Given the description of an element on the screen output the (x, y) to click on. 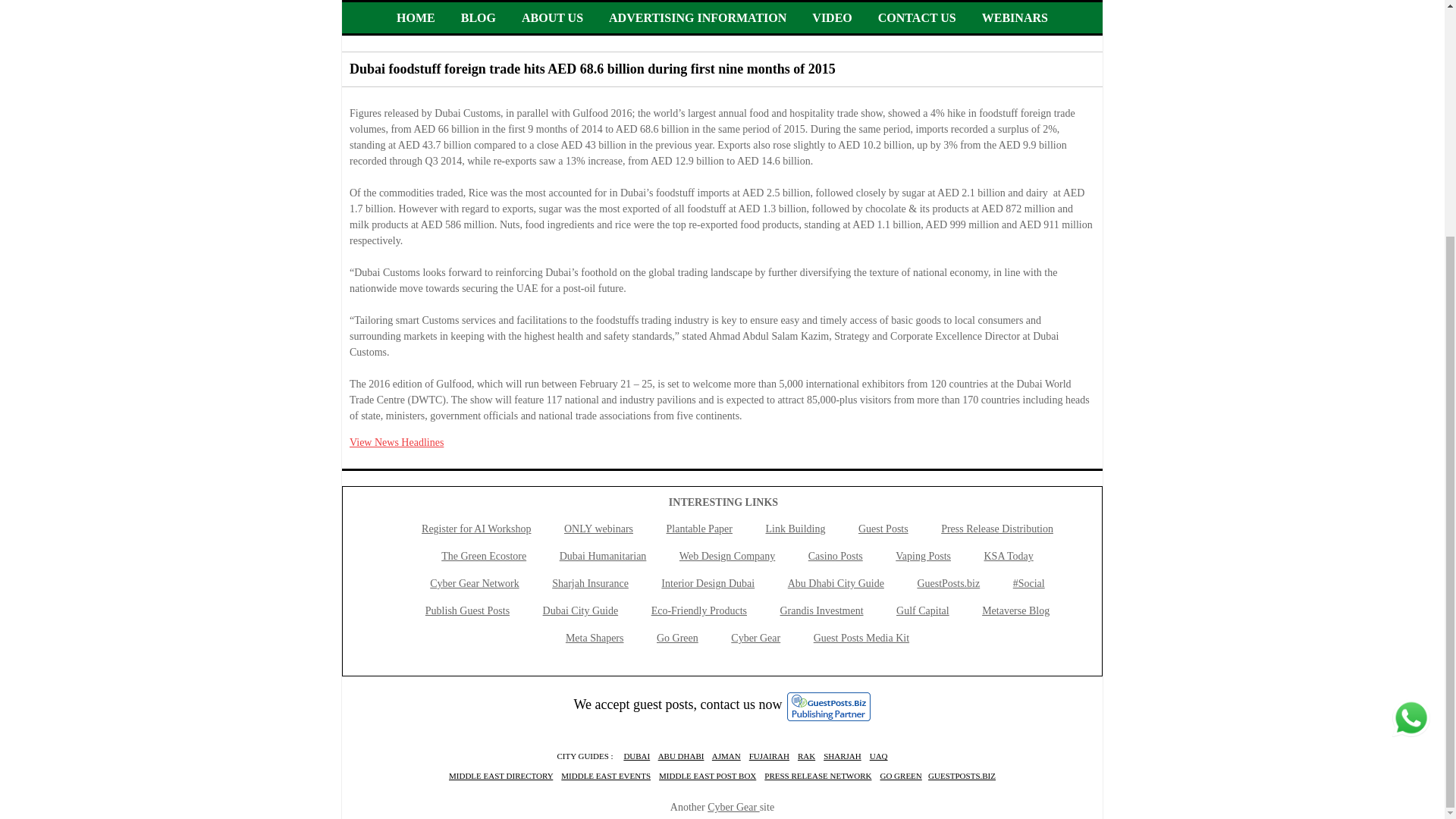
Cyber Gear Network (473, 583)
Register for AI Workshop by Cyber Gear (476, 528)
Ras Al Khaimah (806, 755)
Register for AI Workshop (476, 528)
Dubai City Guide (580, 610)
Abu Dhabi (636, 755)
Press Release Distribution (996, 528)
View News Headlines (396, 441)
Vaping Posts (922, 555)
Casino Posts (835, 555)
Link Building (795, 528)
Plantable Paper (698, 528)
Metaverse Blog (1015, 610)
WEBINARS (1014, 17)
Eco-Friendly Products (698, 610)
